Given the description of an element on the screen output the (x, y) to click on. 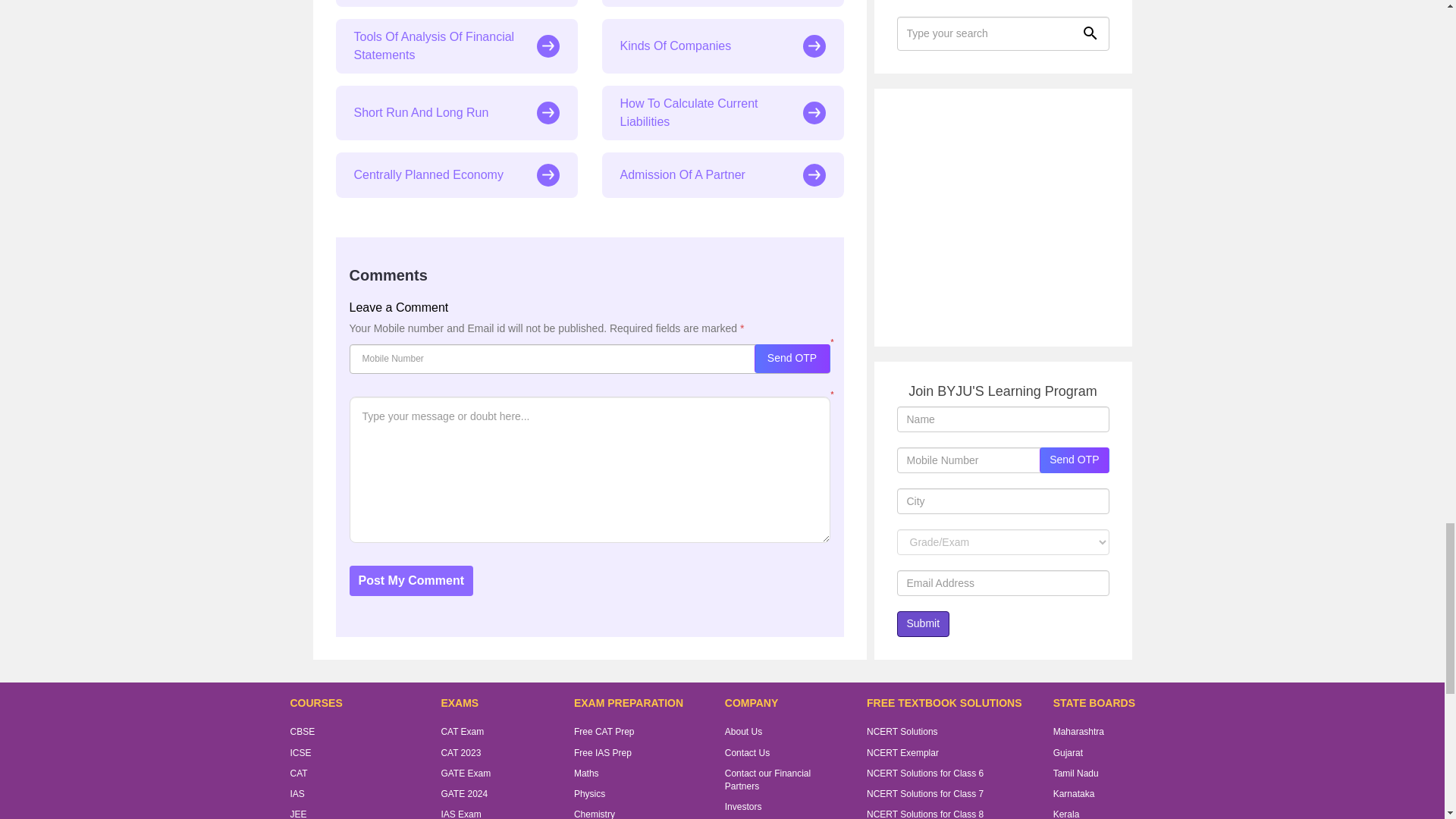
Kinds Of Companies (723, 45)
Incidental Charges (723, 3)
Centrally Planned Economy (455, 175)
Business Studies Class 12 Project (455, 3)
Short Run And Long Run (455, 112)
Admission Of A Partner (723, 175)
How To Calculate Current Liabilities (723, 112)
Tools Of Analysis Of Financial Statements (455, 45)
